Given the description of an element on the screen output the (x, y) to click on. 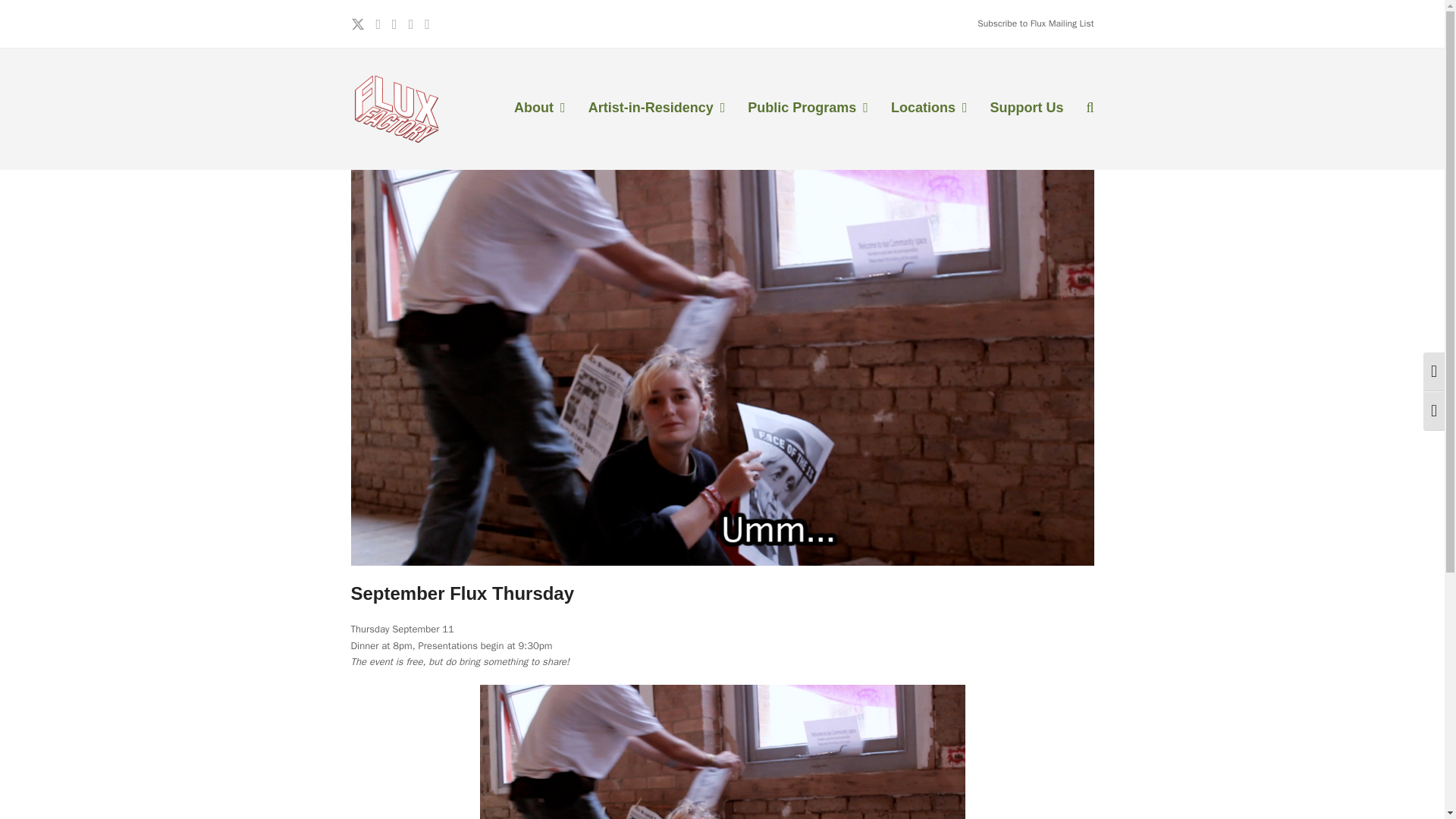
Support Us (1026, 108)
Artist-in-Residency (656, 108)
About (539, 108)
Locations (928, 108)
Subscribe to Flux Mailing List (1034, 23)
Public Programs (807, 108)
